Given the description of an element on the screen output the (x, y) to click on. 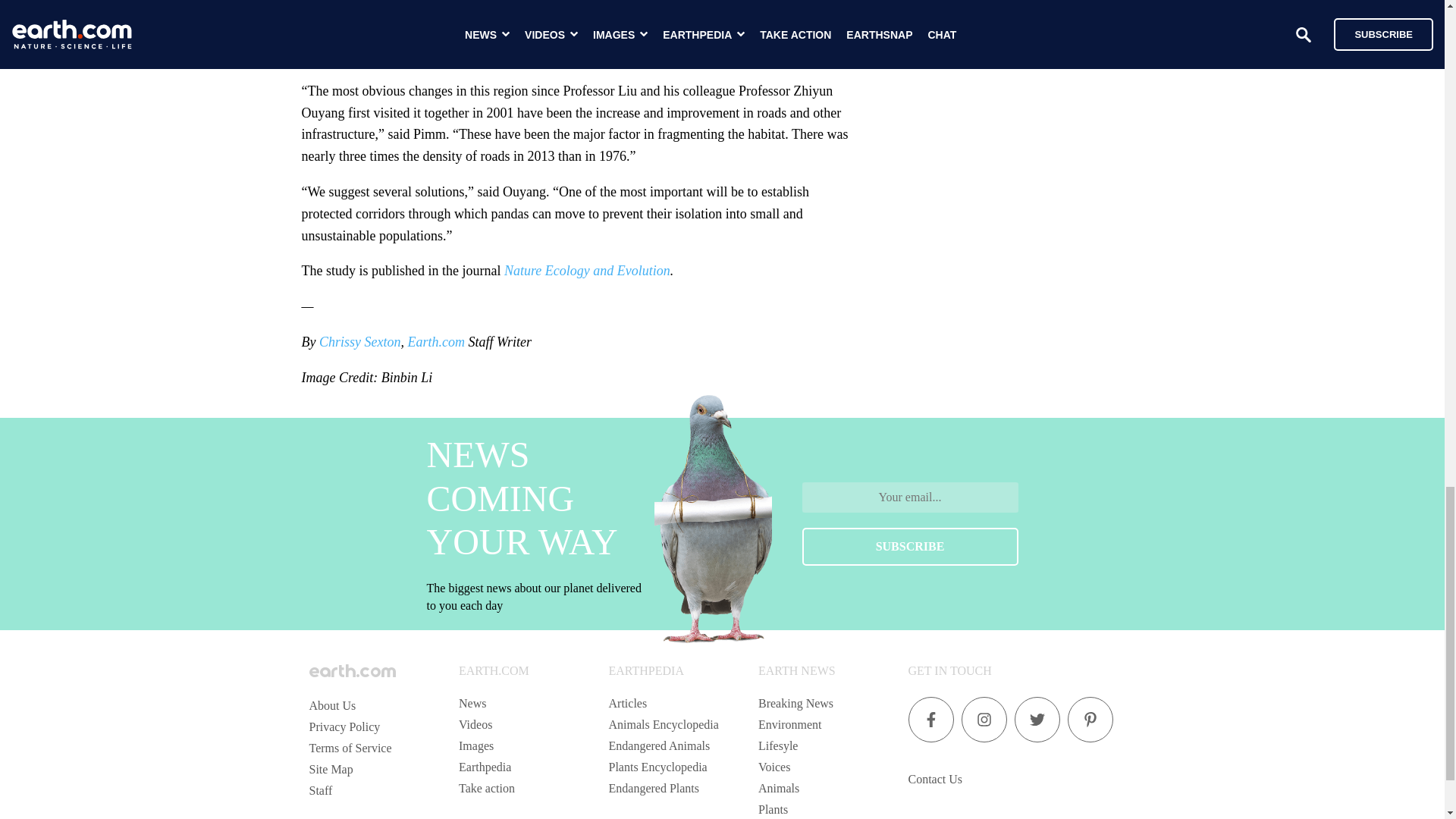
Earth.com (435, 341)
Nature Ecology and Evolution (586, 270)
Chrissy Sexton (359, 341)
